Given the description of an element on the screen output the (x, y) to click on. 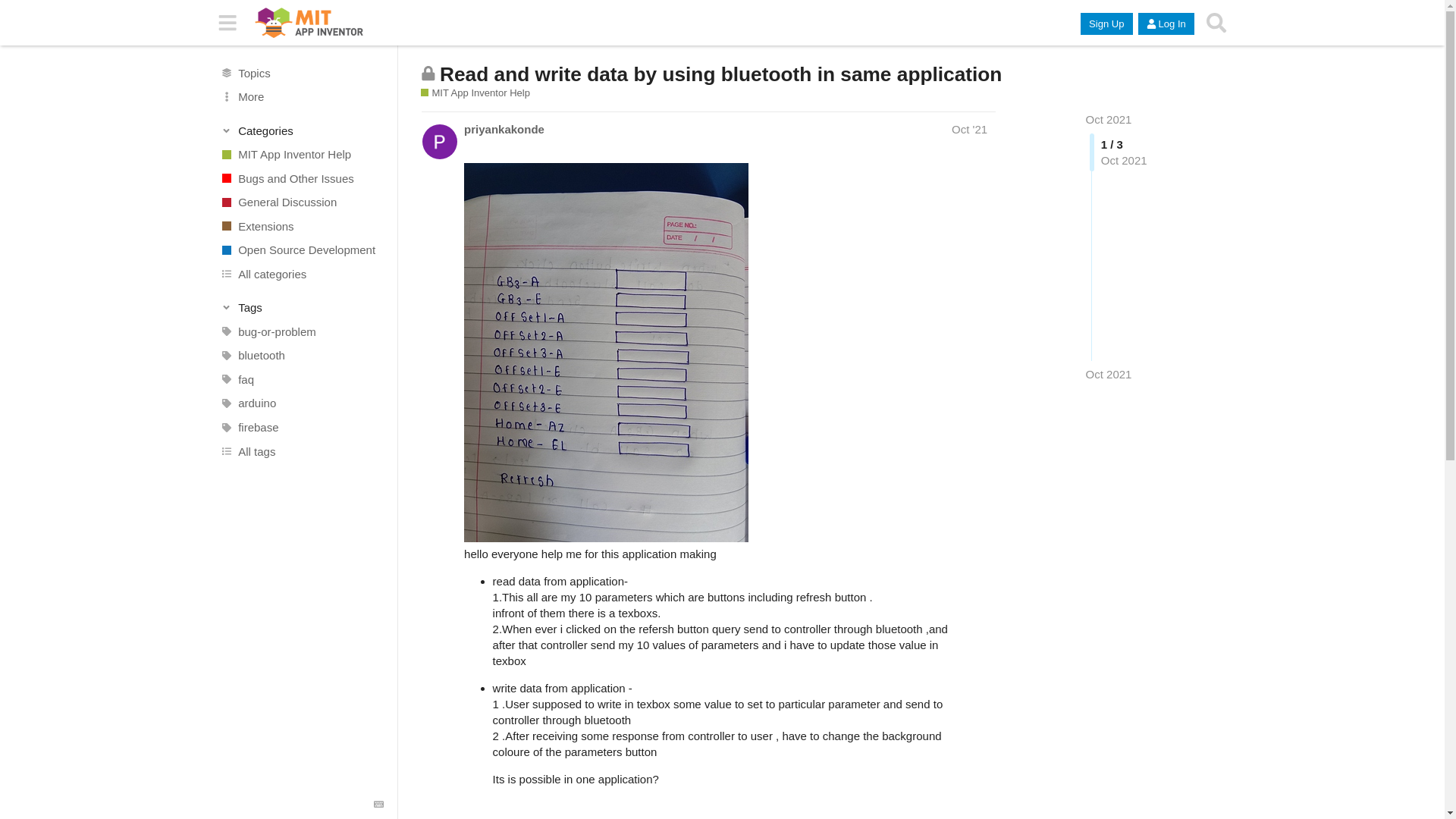
arduino (301, 403)
bluetooth (301, 355)
Oct 2021 (1109, 374)
bug-or-problem (301, 331)
Categories (301, 130)
Read and write data by using bluetooth in same application (720, 74)
Oct '21 (969, 128)
Sidebar (227, 22)
Log In (1165, 24)
Oct 2021 (1109, 119)
Extensions (301, 225)
Search (1215, 22)
faq (301, 379)
Toggle section (301, 130)
